Given the description of an element on the screen output the (x, y) to click on. 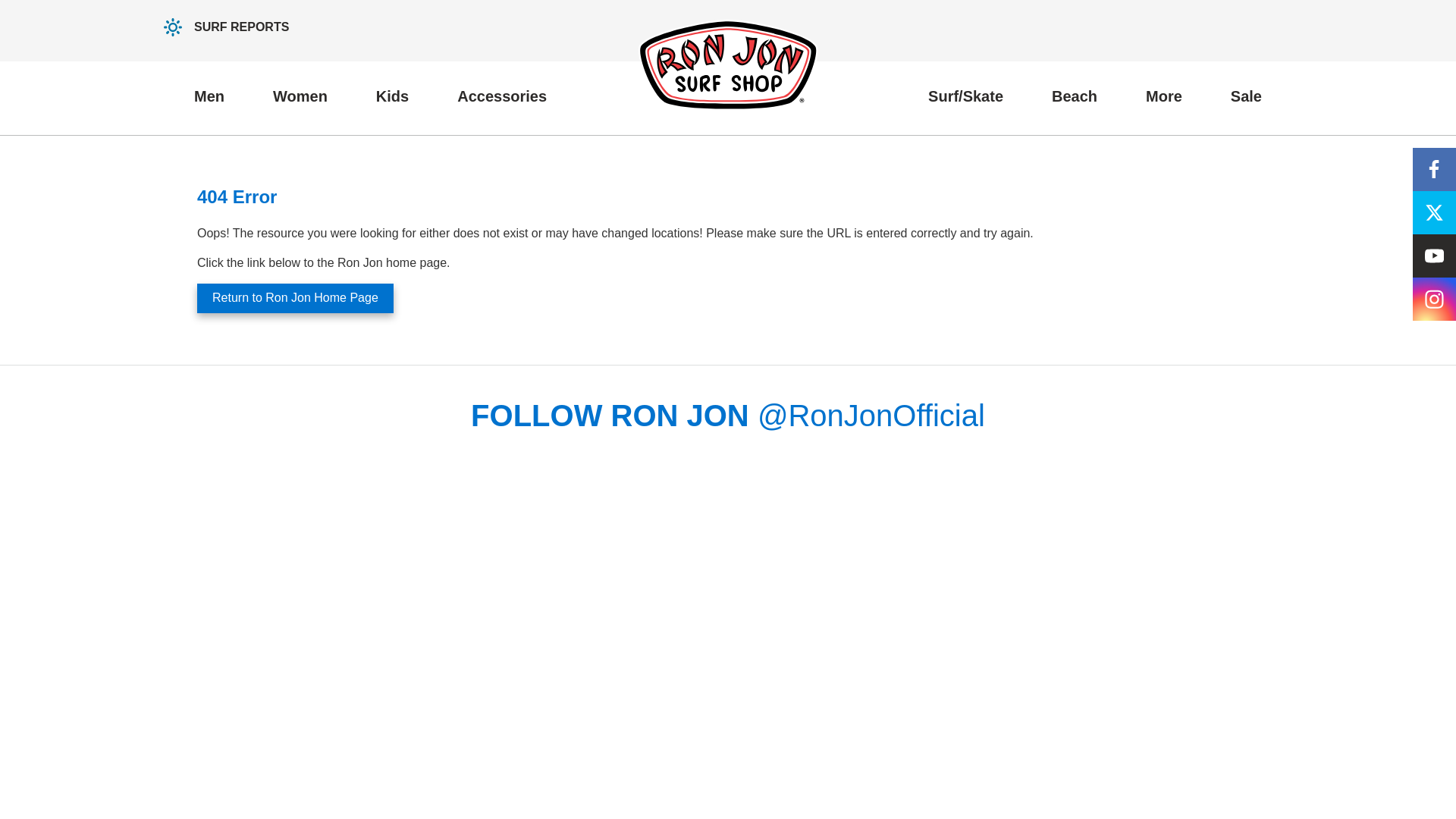
Women (300, 96)
Ron Jon Homepage (727, 63)
Men (208, 96)
